Given the description of an element on the screen output the (x, y) to click on. 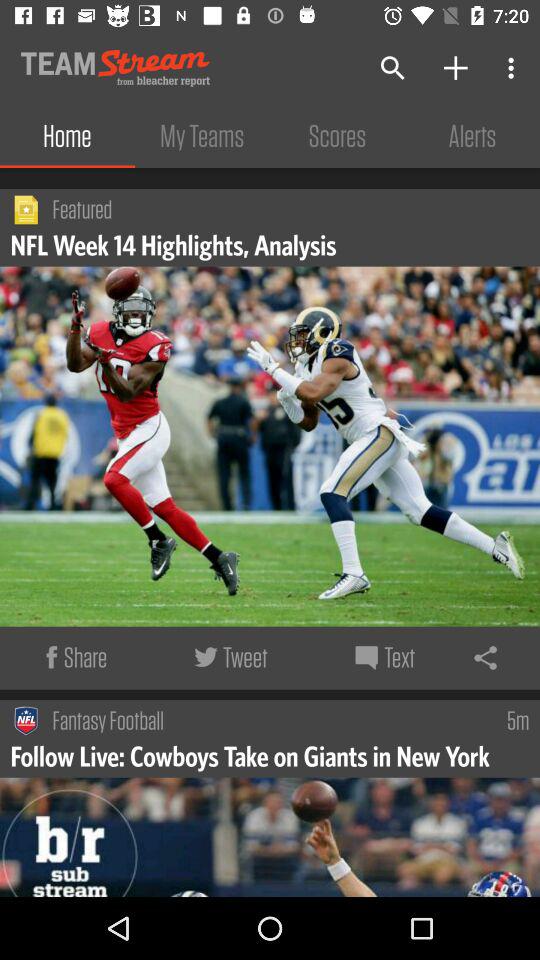
jump to nfl week 14 item (175, 244)
